Given the description of an element on the screen output the (x, y) to click on. 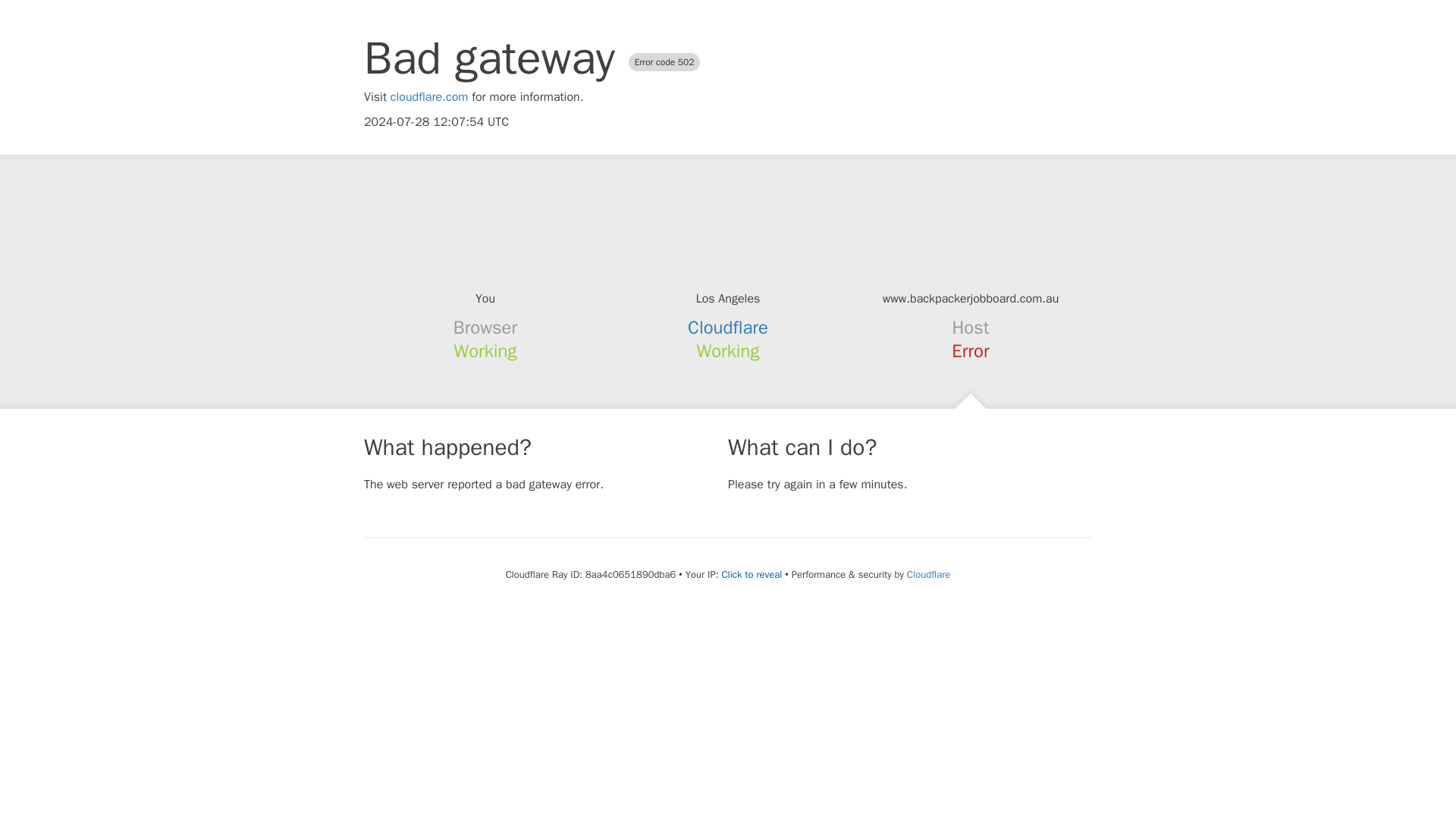
cloudflare.com (429, 96)
Cloudflare (727, 327)
Click to reveal (750, 574)
Cloudflare (928, 574)
